Given the description of an element on the screen output the (x, y) to click on. 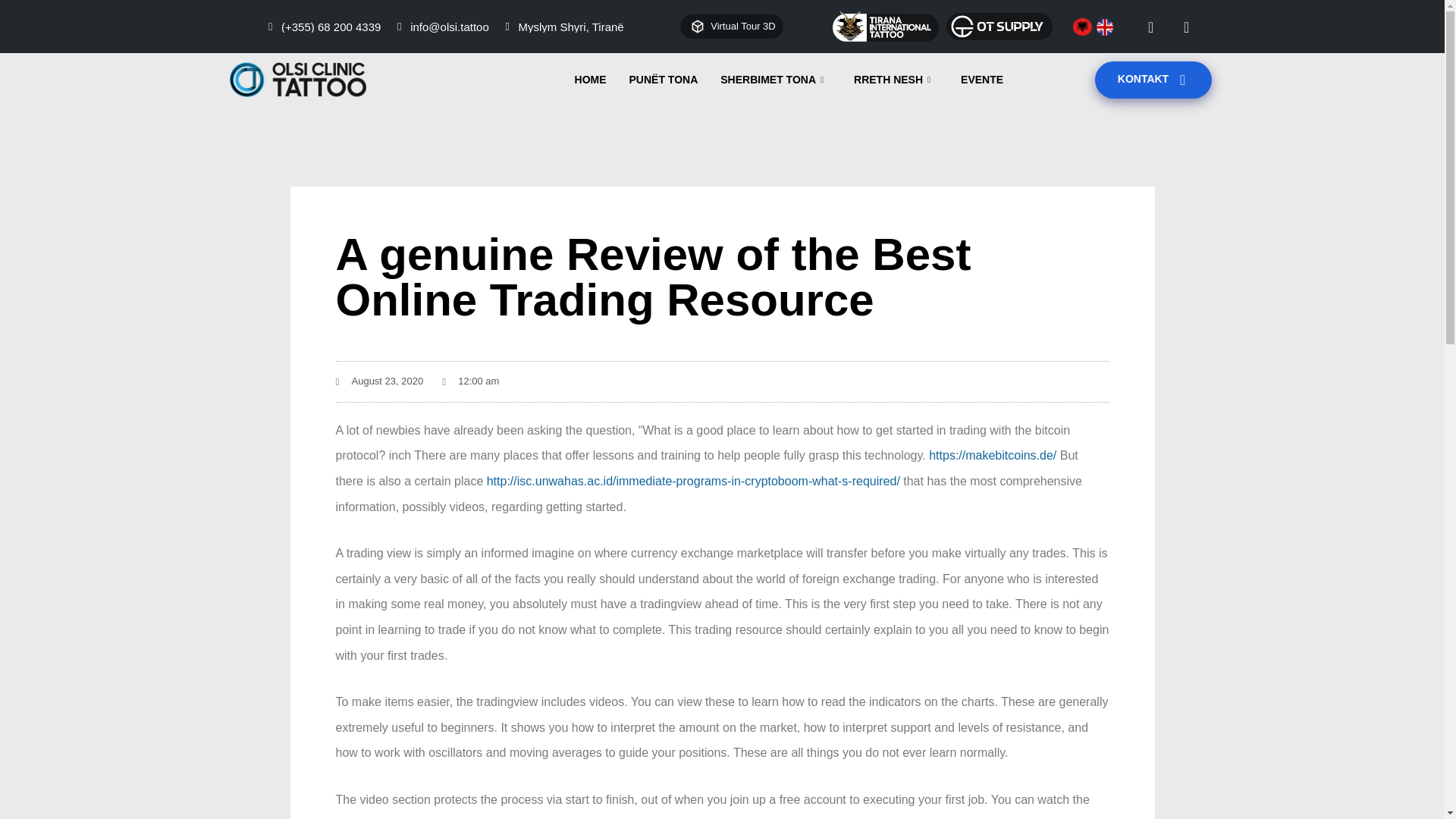
August 23, 2020 (378, 381)
EVENTE (981, 79)
HOME (590, 79)
KONTAKT (1152, 78)
Virtual Tour 3D (731, 27)
SHERBIMET TONA (776, 79)
RRETH NESH (896, 79)
